Given the description of an element on the screen output the (x, y) to click on. 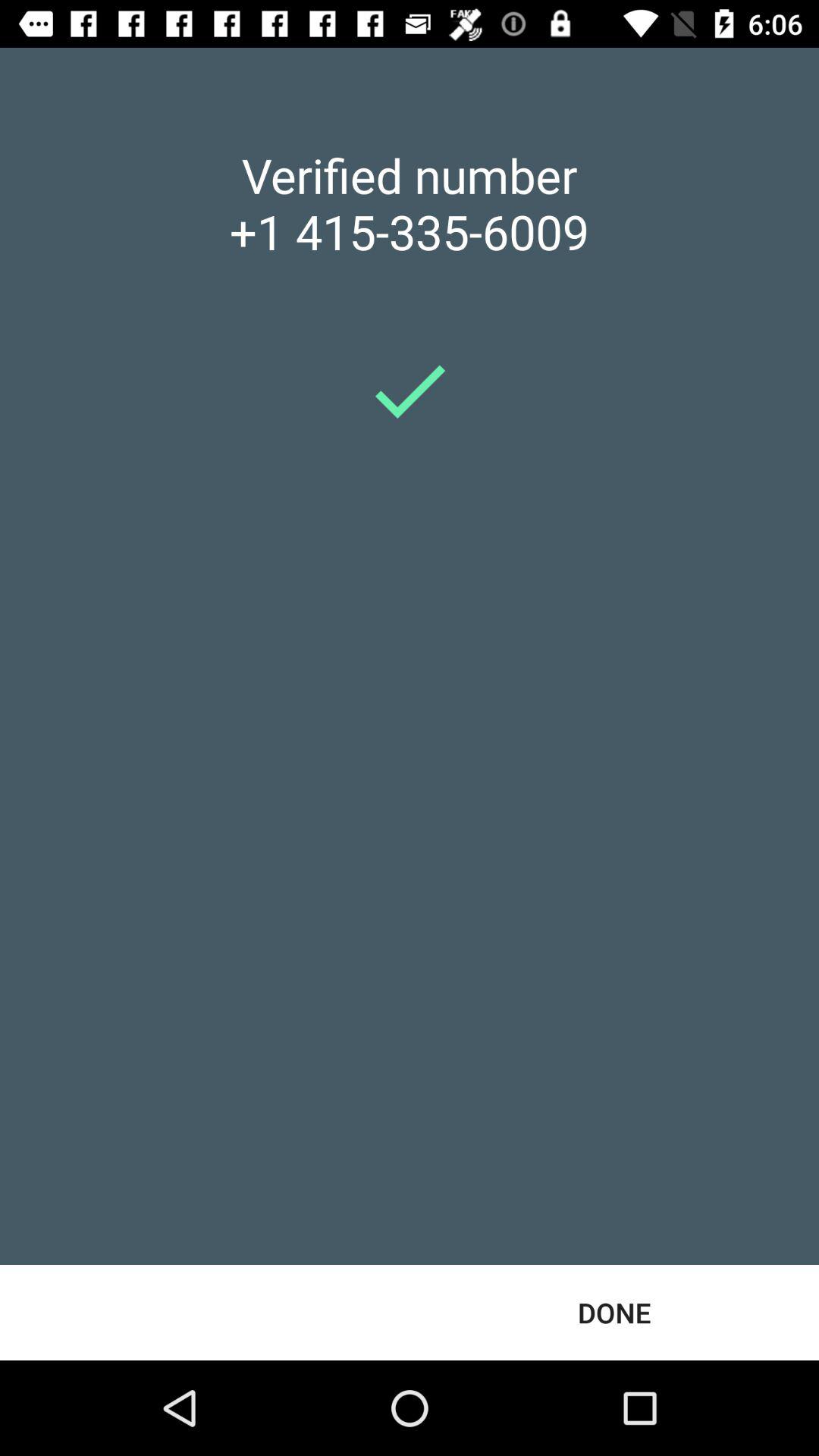
flip to the done item (614, 1312)
